Given the description of an element on the screen output the (x, y) to click on. 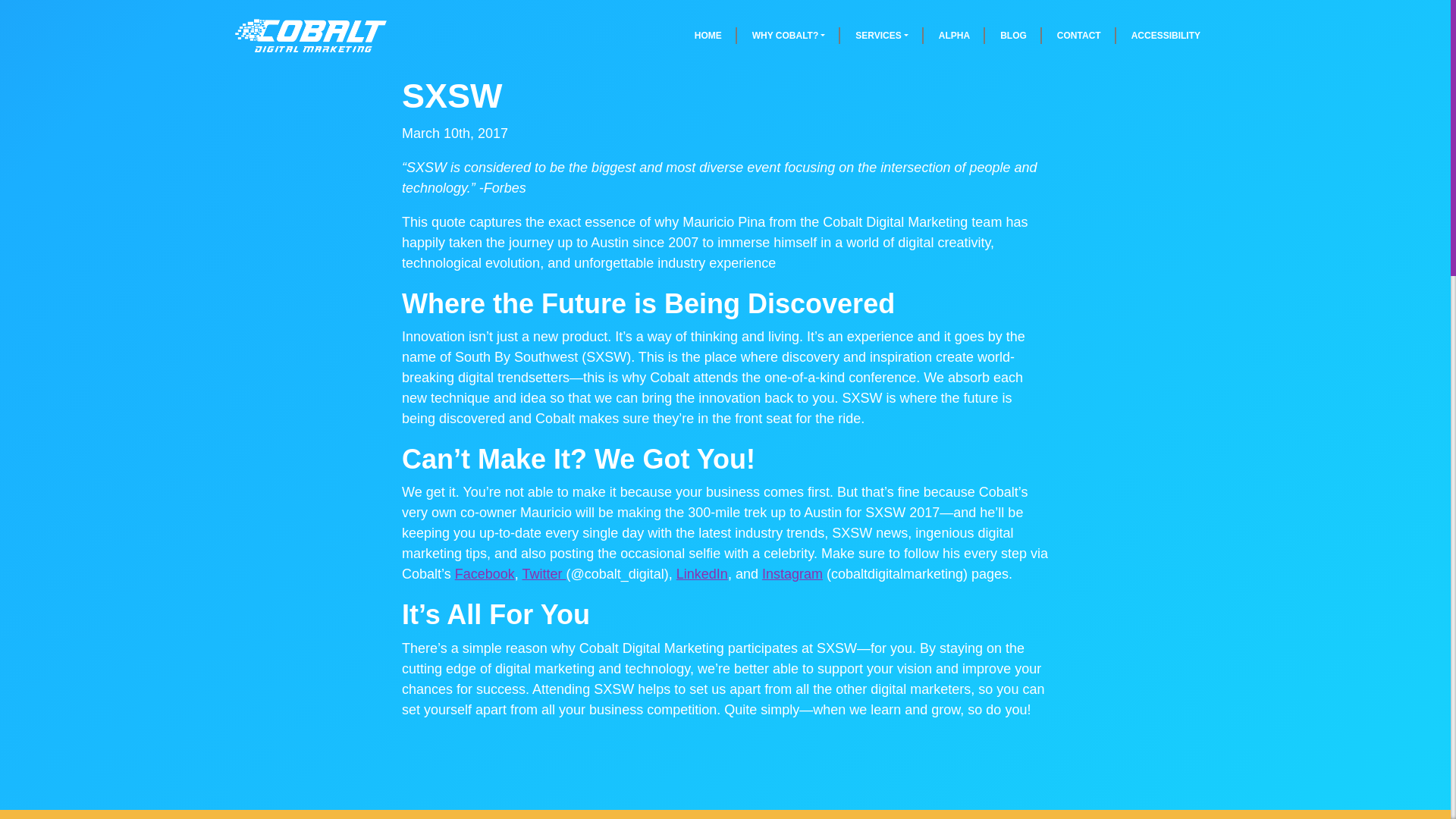
Instagram (791, 573)
CONTACT (1079, 35)
LinkedIn (702, 573)
BLOG (1013, 35)
ALPHA (954, 35)
HOME (707, 35)
WHY COBALT? (788, 35)
ACCESSIBILITY (1165, 35)
Twitter (543, 573)
SERVICES (881, 35)
